Given the description of an element on the screen output the (x, y) to click on. 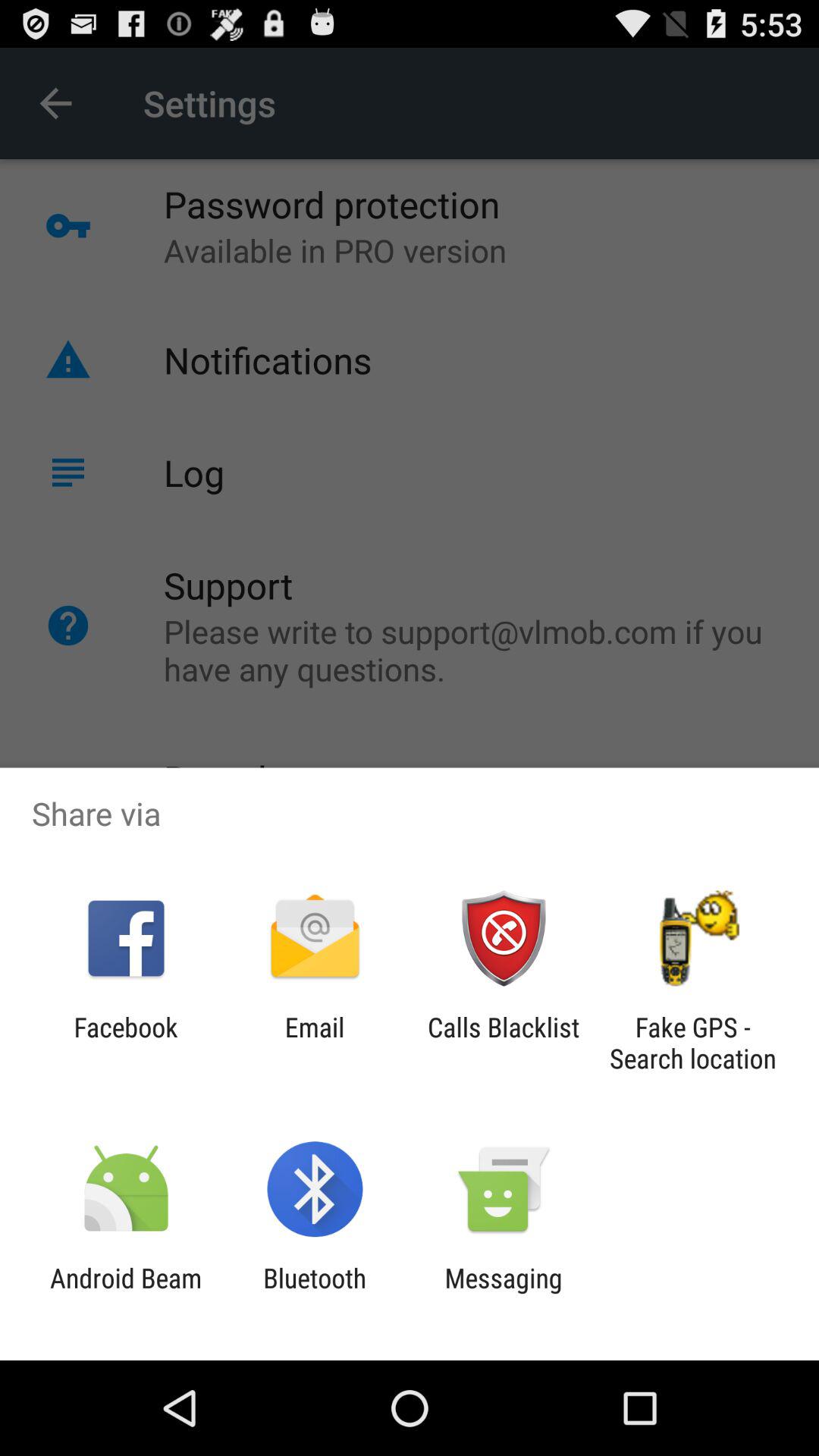
turn on item next to bluetooth (125, 1293)
